Given the description of an element on the screen output the (x, y) to click on. 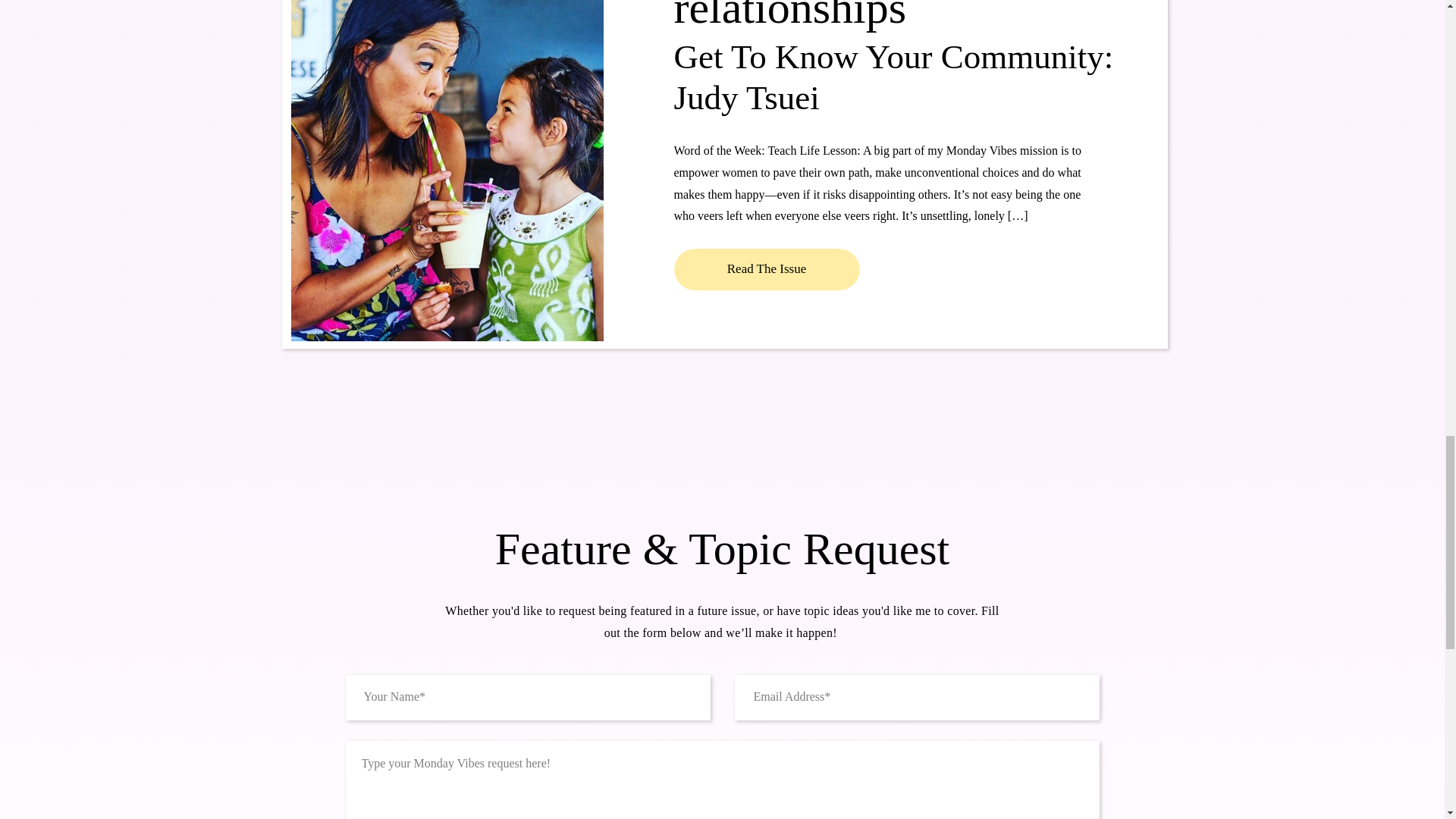
Get To Know Your Community: Judy Tsuei (765, 269)
Get To Know Your Community: Judy Tsuei (892, 77)
Read The Issue (765, 269)
relationships (788, 16)
Get To Know Your Community: Judy Tsuei (765, 269)
